Given the description of an element on the screen output the (x, y) to click on. 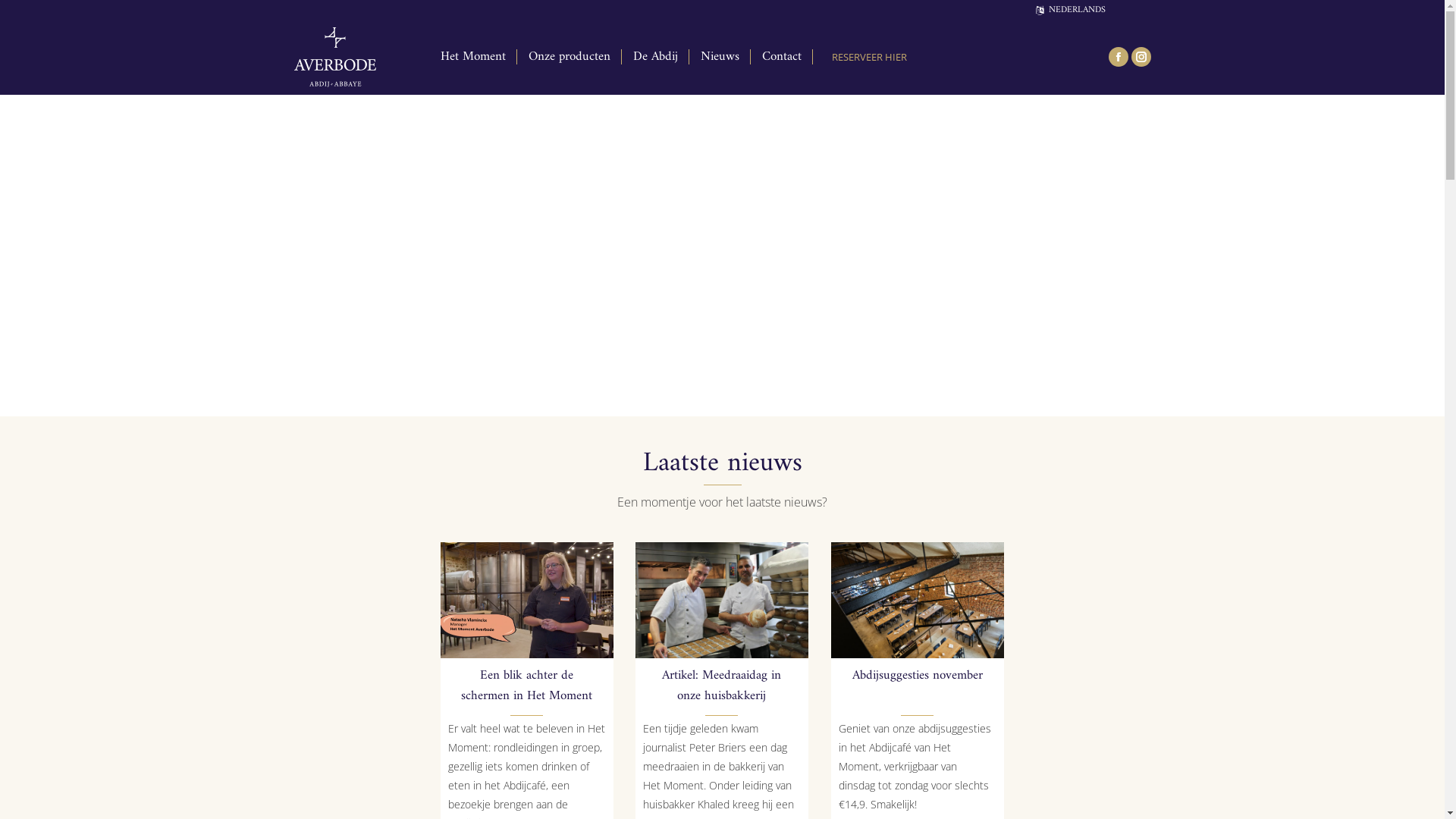
Nieuws Element type: text (719, 56)
De Abdij Element type: text (654, 56)
Artikel: Meedraaidag in onze huisbakkerij Element type: text (721, 685)
Een blik achter de schermen in Het Moment Element type: text (526, 685)
RESERVEER HIER Element type: text (864, 56)
Artikel: Meedraaidag in onze huisbakkerij Element type: hover (721, 600)
Facebook page opens in new window Element type: text (1118, 56)
Contact Element type: text (780, 56)
Abdijsuggesties november Element type: text (917, 675)
Instagram page opens in new window Element type: text (1141, 56)
Een blik achter de schermen in Het Moment Element type: hover (526, 600)
Abdijsuggesties november Element type: hover (917, 600)
Het Moment Element type: text (472, 56)
Onze producten Element type: text (568, 56)
